Given the description of an element on the screen output the (x, y) to click on. 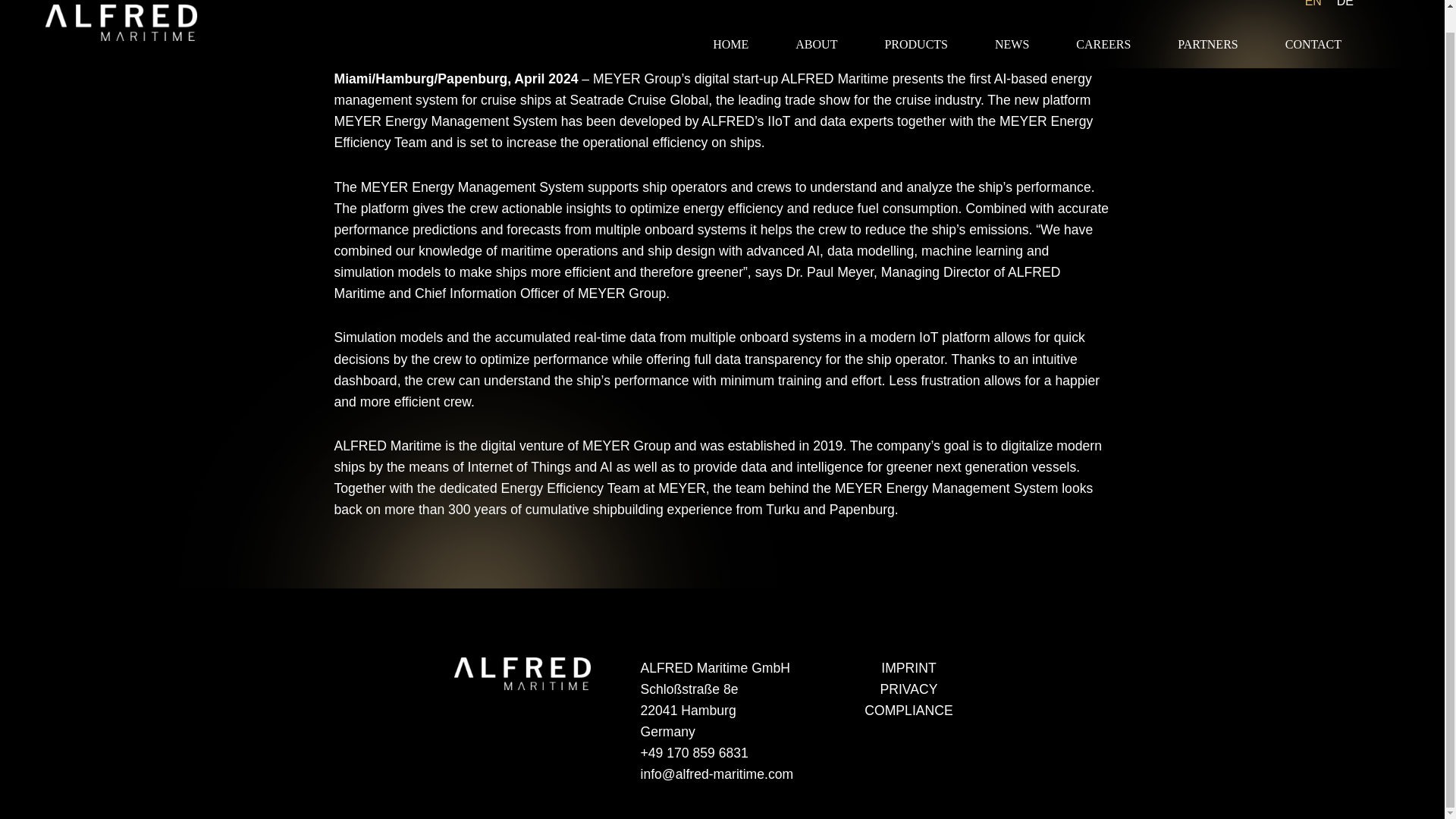
COMPLIANCE (908, 710)
NEWS (1011, 44)
EN (1313, 3)
IMPRINT (908, 667)
PRODUCTS (915, 44)
CONTACT (1313, 44)
PRIVACY (908, 688)
DE (1345, 3)
ABOUT (815, 44)
CAREERS (1103, 44)
PARTNERS (1207, 44)
HOME (730, 44)
